Given the description of an element on the screen output the (x, y) to click on. 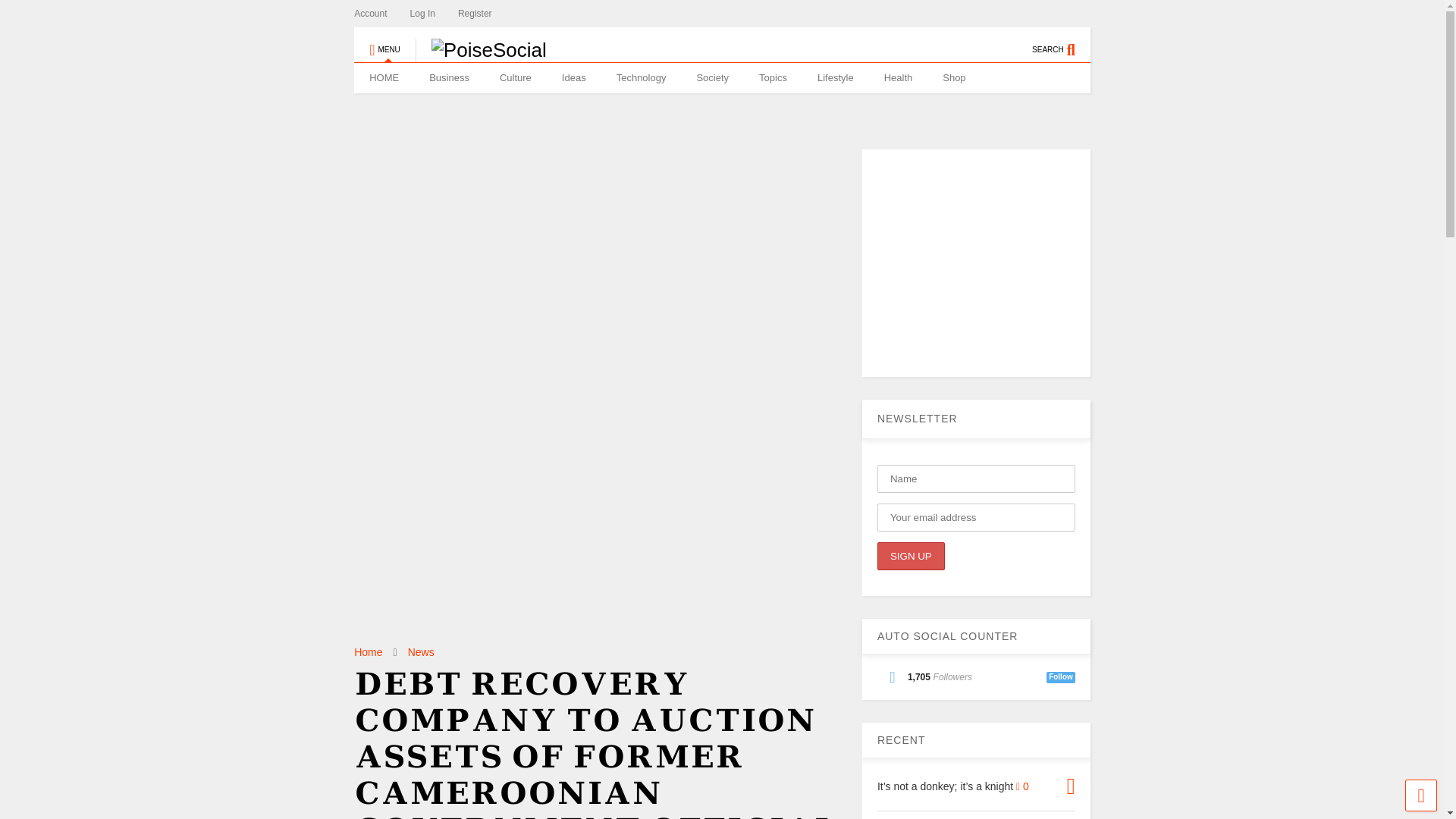
SIGN UP (910, 556)
RECENT (901, 739)
MENU (383, 42)
PoiseSocial (480, 49)
Technology (641, 78)
Lifestyle (835, 78)
Society (712, 78)
News (420, 652)
SIGN UP (910, 556)
Shop (953, 78)
